Given the description of an element on the screen output the (x, y) to click on. 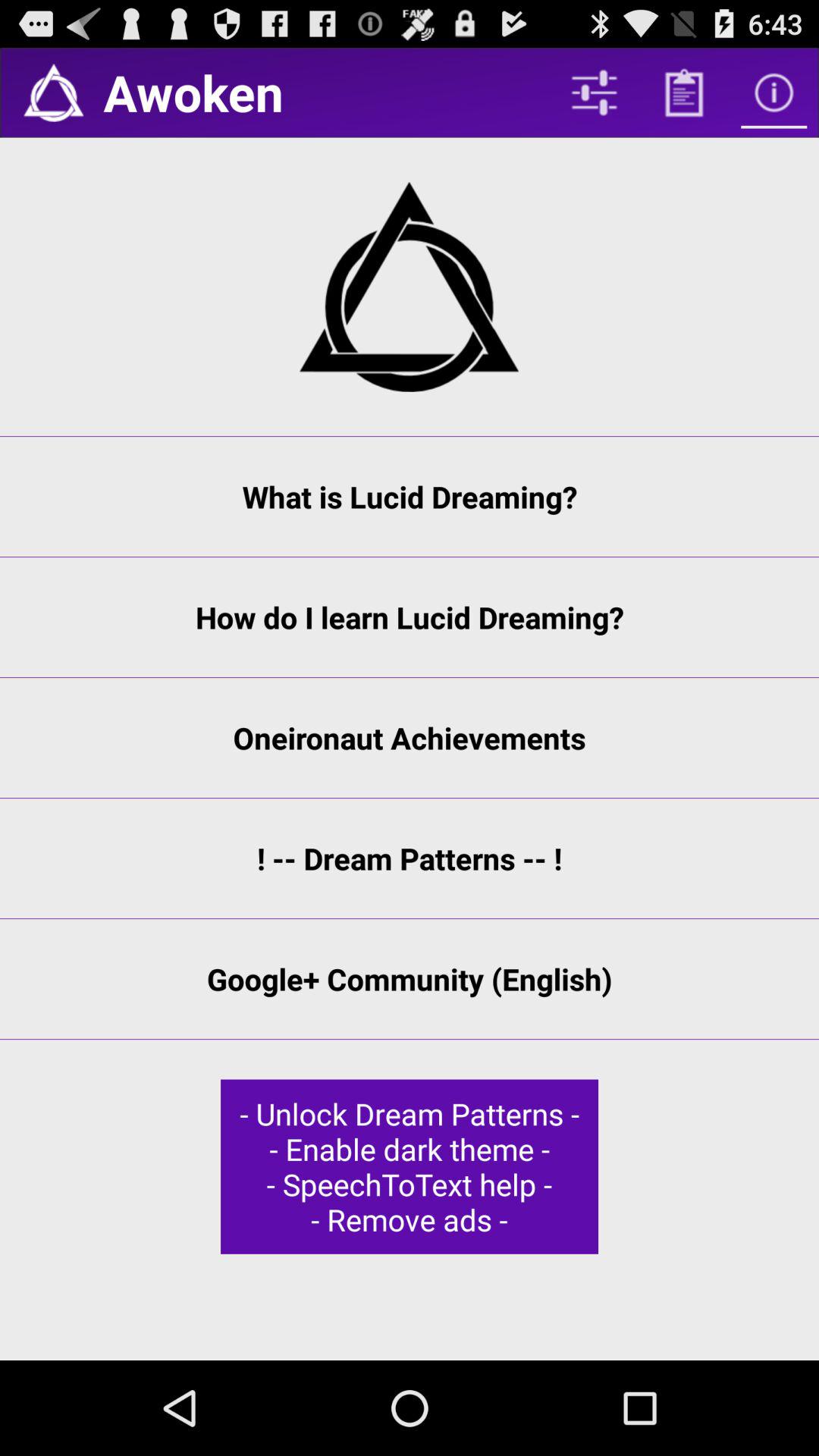
copy to clipboard (684, 92)
